Given the description of an element on the screen output the (x, y) to click on. 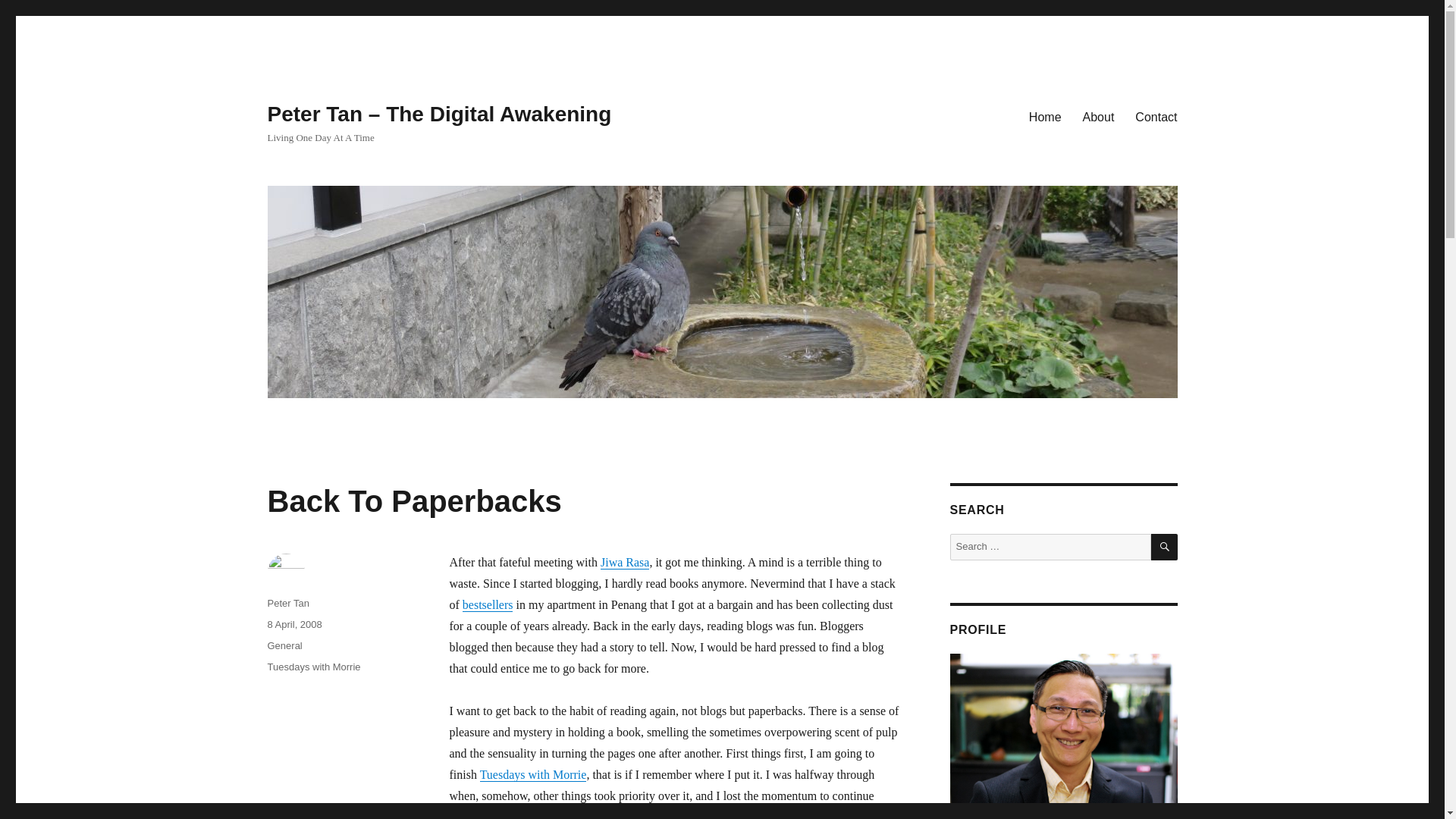
Jiwa Rasa (624, 562)
About (1098, 116)
Tuesdays with Morrie (533, 774)
SEARCH (1164, 546)
Tuesdays with Morrie (312, 666)
Home (1044, 116)
bestsellers (488, 604)
Peter Tan (287, 603)
8 April, 2008 (293, 624)
General (283, 645)
